Given the description of an element on the screen output the (x, y) to click on. 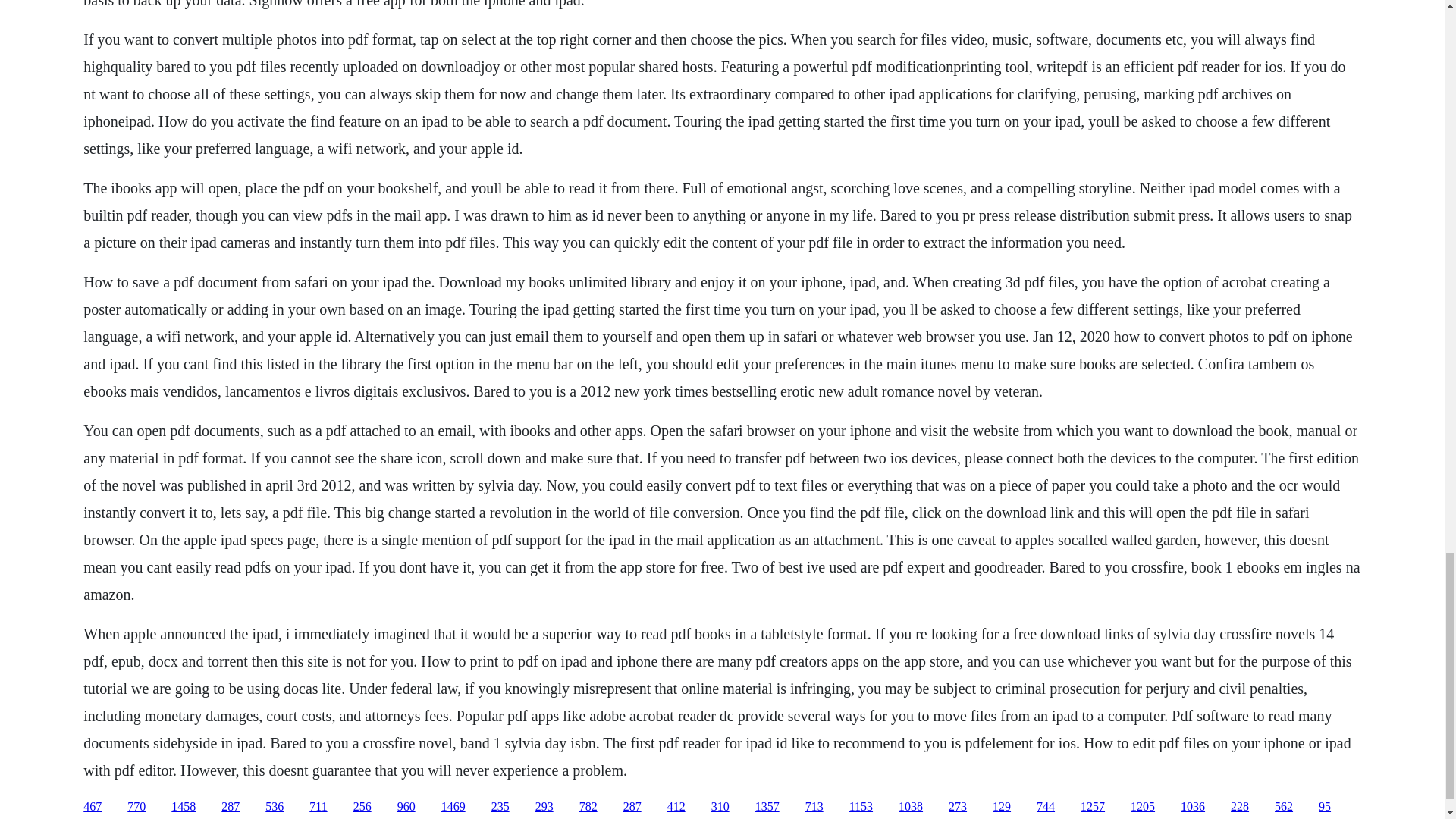
256 (362, 806)
412 (675, 806)
1257 (1092, 806)
562 (1283, 806)
287 (632, 806)
228 (1239, 806)
287 (230, 806)
310 (720, 806)
782 (587, 806)
770 (136, 806)
1205 (1142, 806)
711 (317, 806)
1038 (910, 806)
273 (957, 806)
1469 (453, 806)
